Given the description of an element on the screen output the (x, y) to click on. 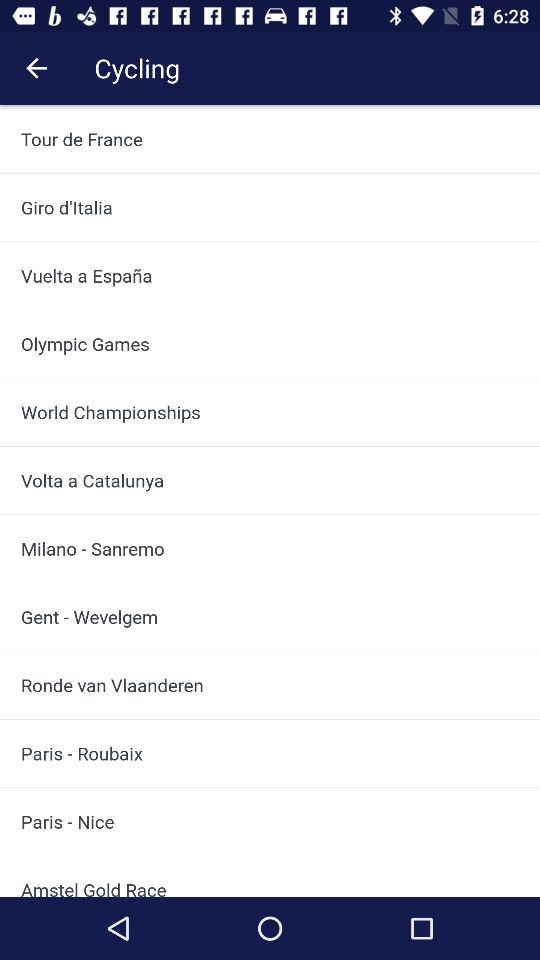
press the icon next to the cycling (36, 68)
